Given the description of an element on the screen output the (x, y) to click on. 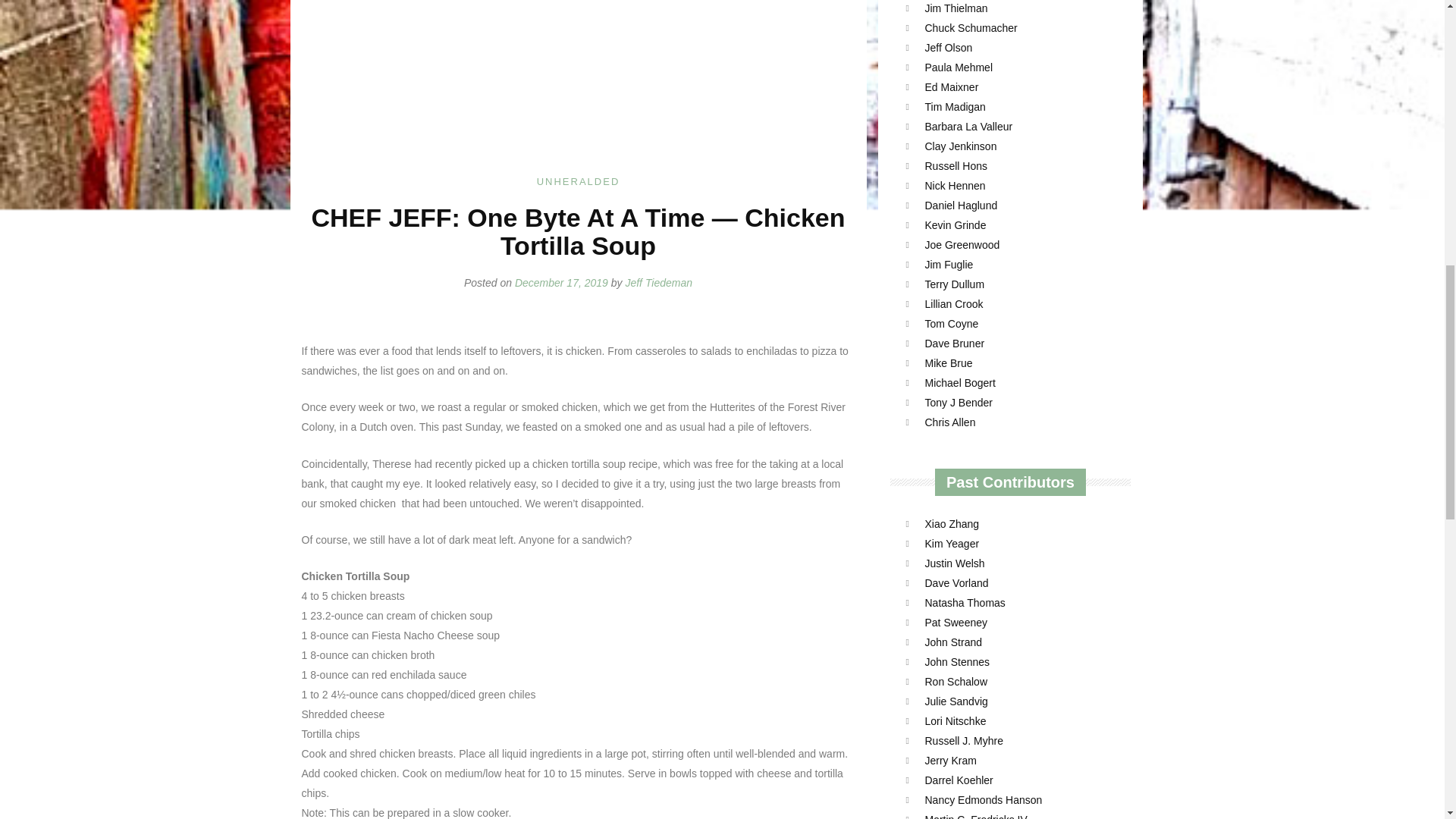
December 17, 2019 (561, 282)
Jeff Tiedeman (658, 282)
UNHERALDED (578, 181)
